Given the description of an element on the screen output the (x, y) to click on. 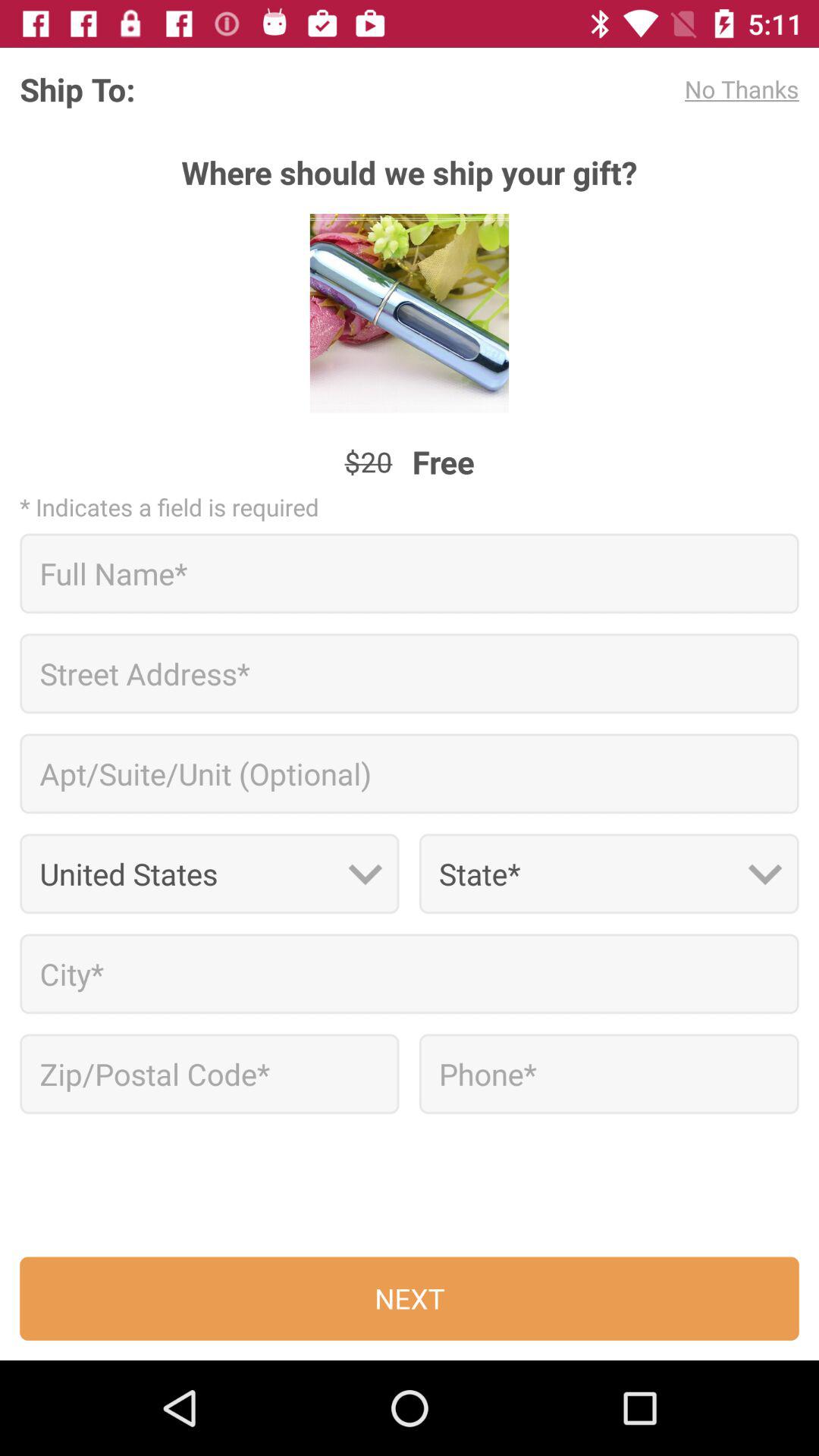
enter city (409, 973)
